Given the description of an element on the screen output the (x, y) to click on. 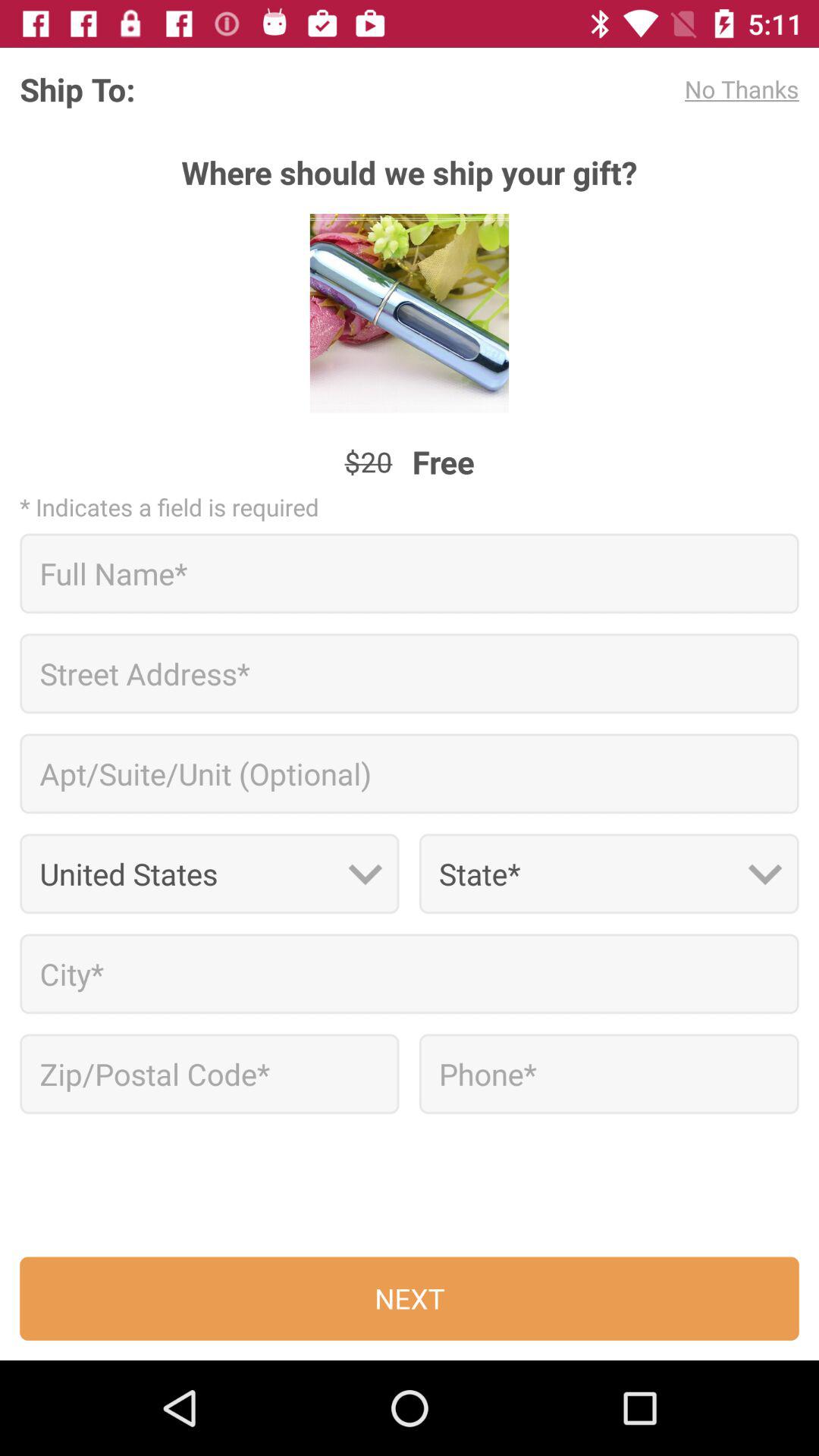
enter city (409, 973)
